Given the description of an element on the screen output the (x, y) to click on. 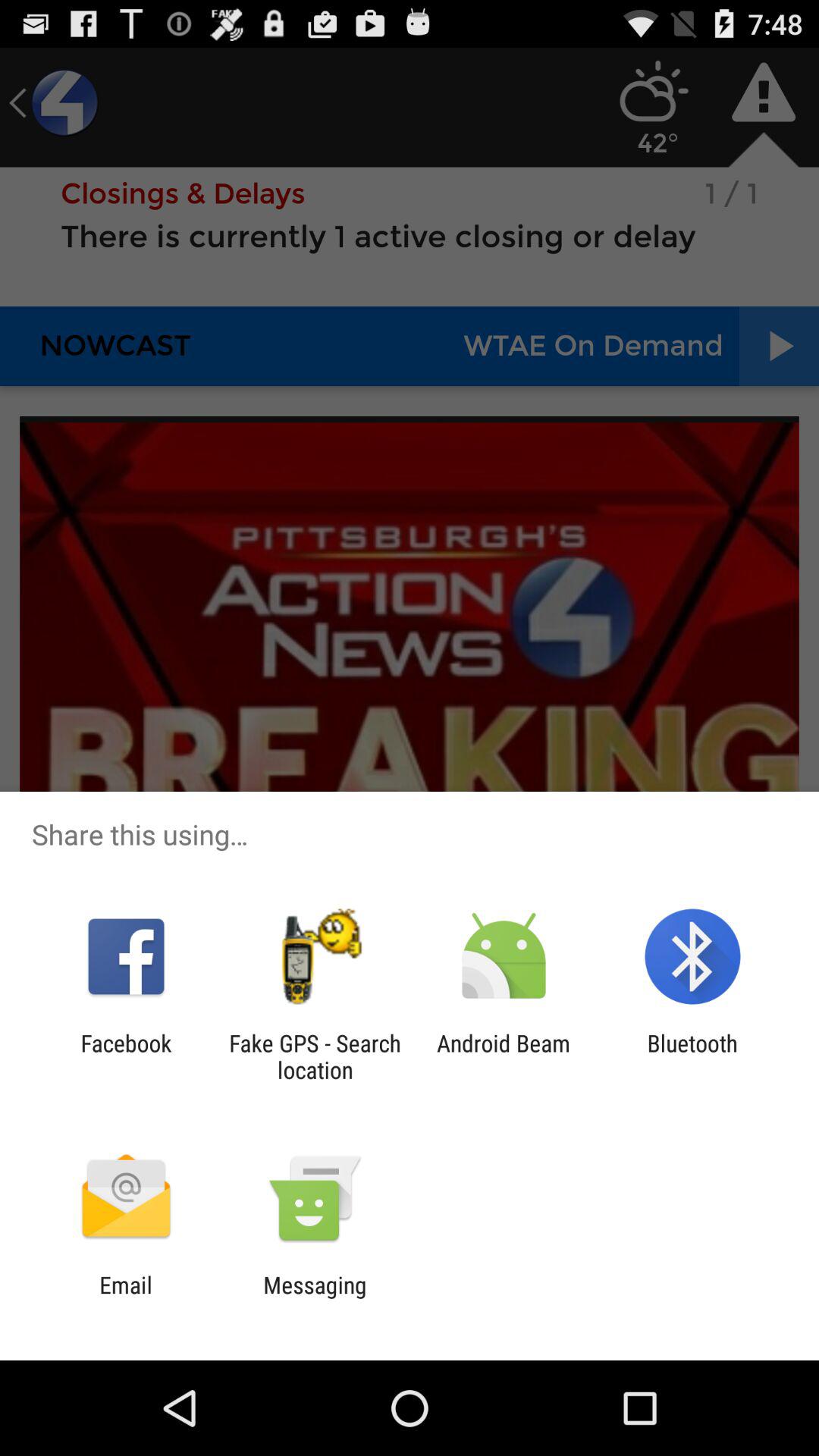
scroll to the android beam item (503, 1056)
